Given the description of an element on the screen output the (x, y) to click on. 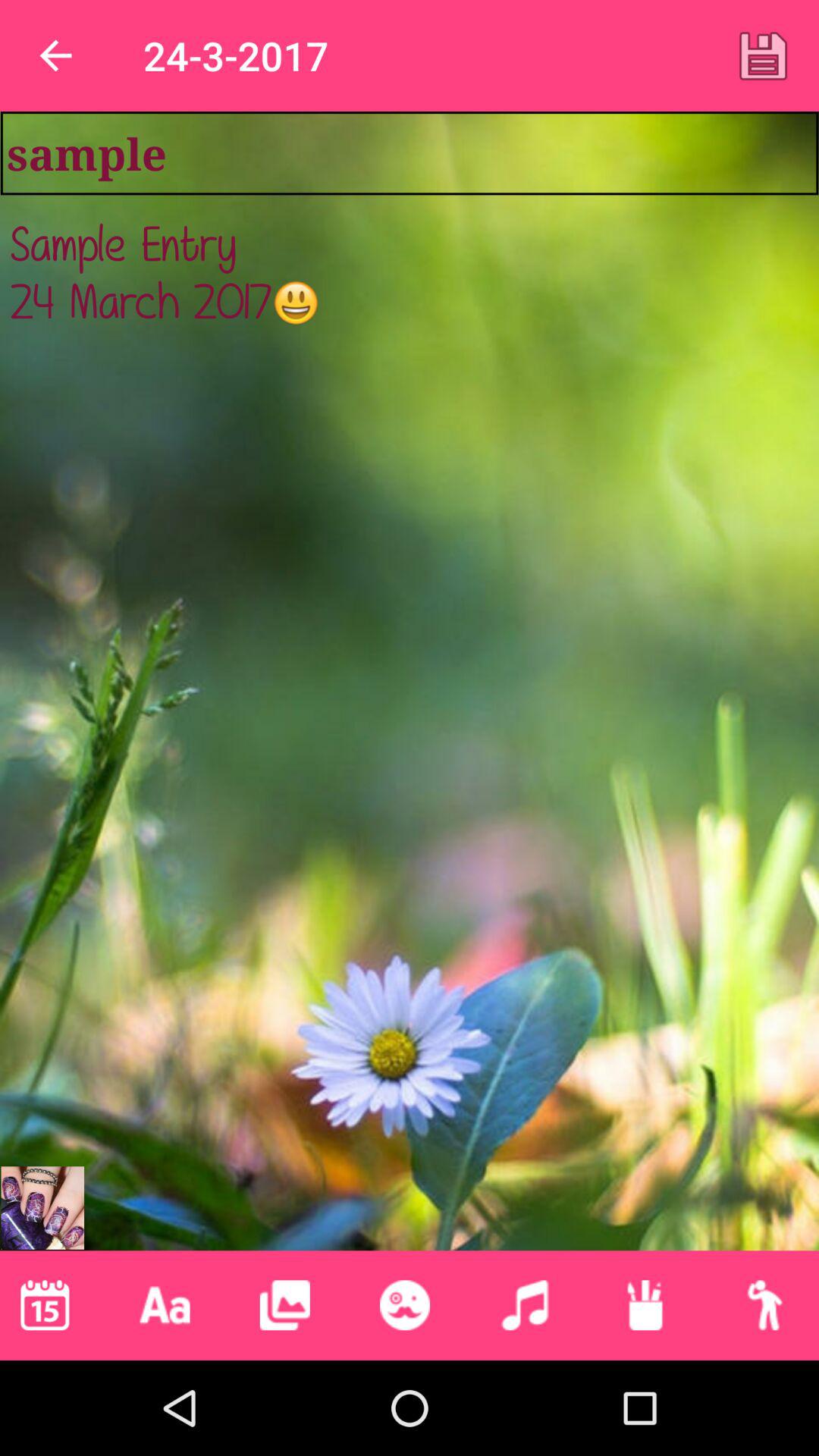
show the entire calendar (44, 1305)
